Given the description of an element on the screen output the (x, y) to click on. 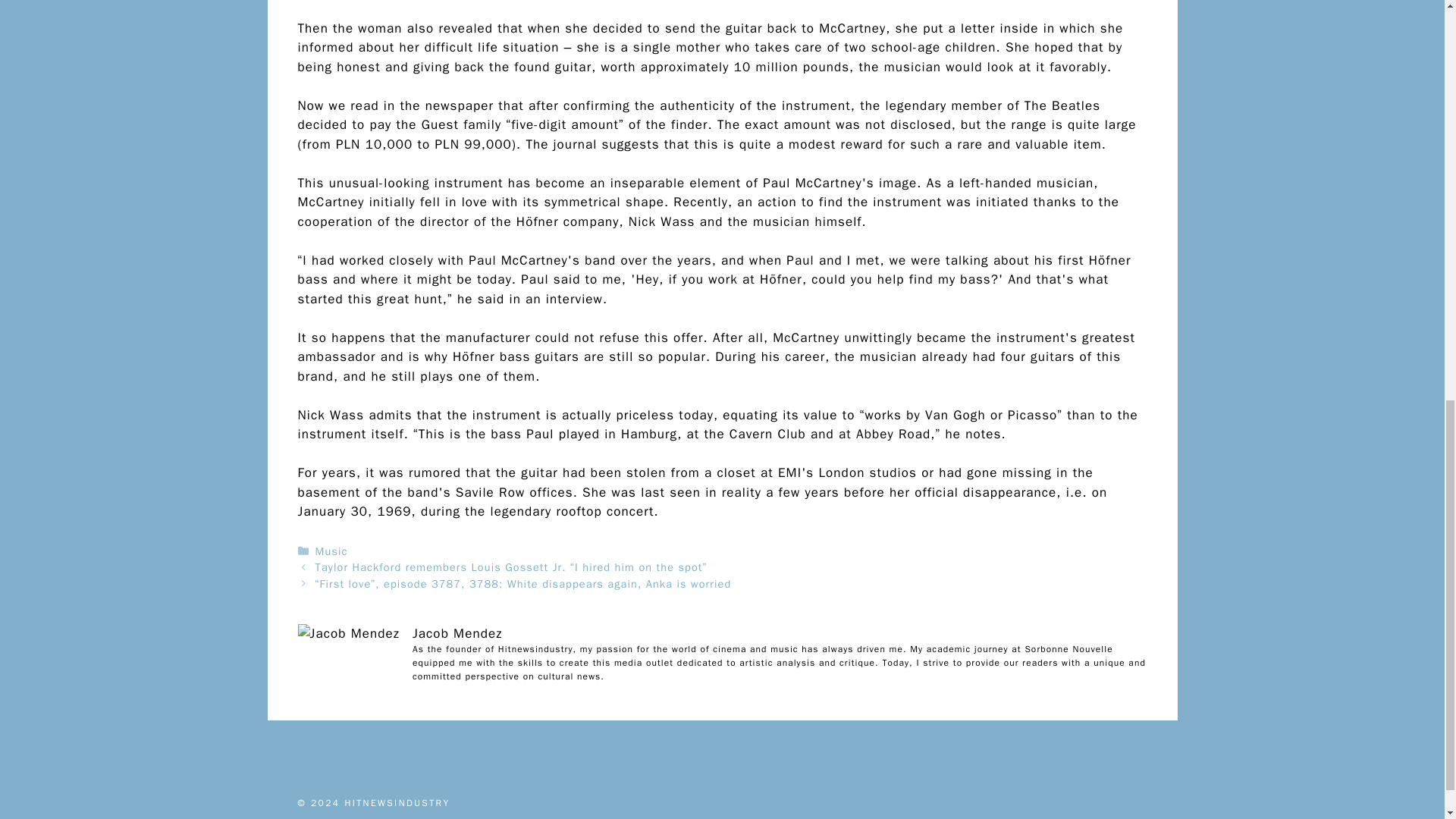
Music (331, 550)
